Given the description of an element on the screen output the (x, y) to click on. 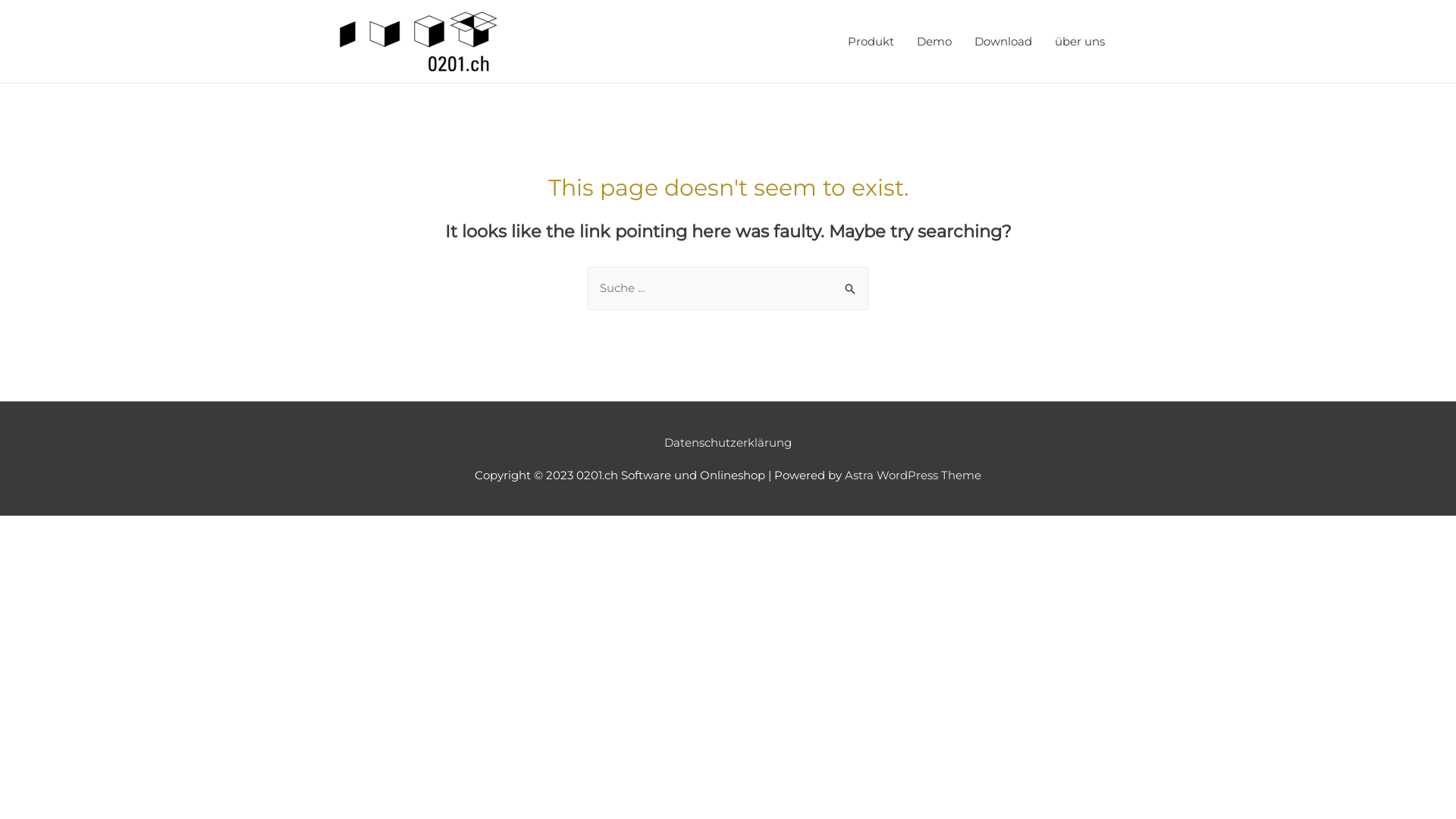
Produkt Element type: text (870, 41)
Download Element type: text (1003, 41)
Demo Element type: text (934, 41)
Astra WordPress Theme Element type: text (912, 474)
Suche Element type: text (851, 282)
